Given the description of an element on the screen output the (x, y) to click on. 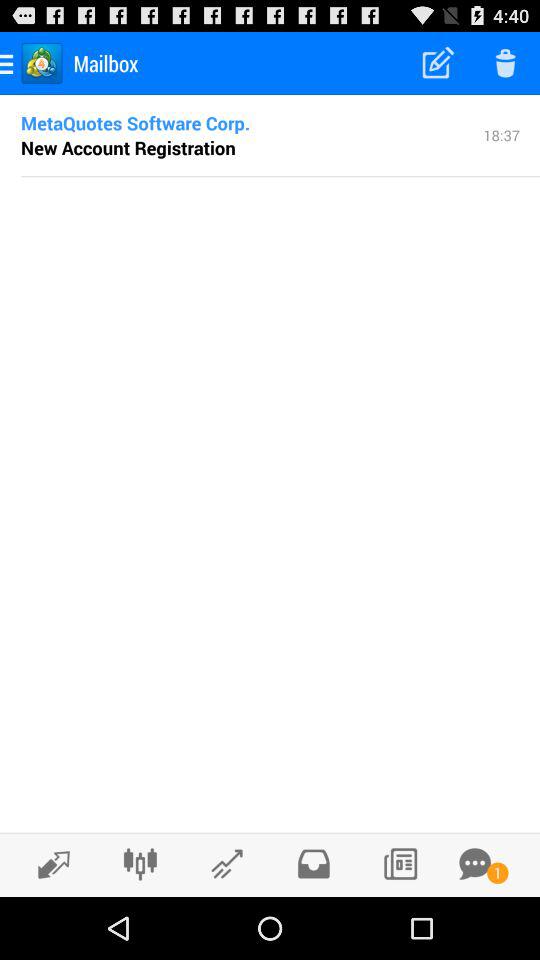
press icon next to 18:37 item (135, 122)
